Given the description of an element on the screen output the (x, y) to click on. 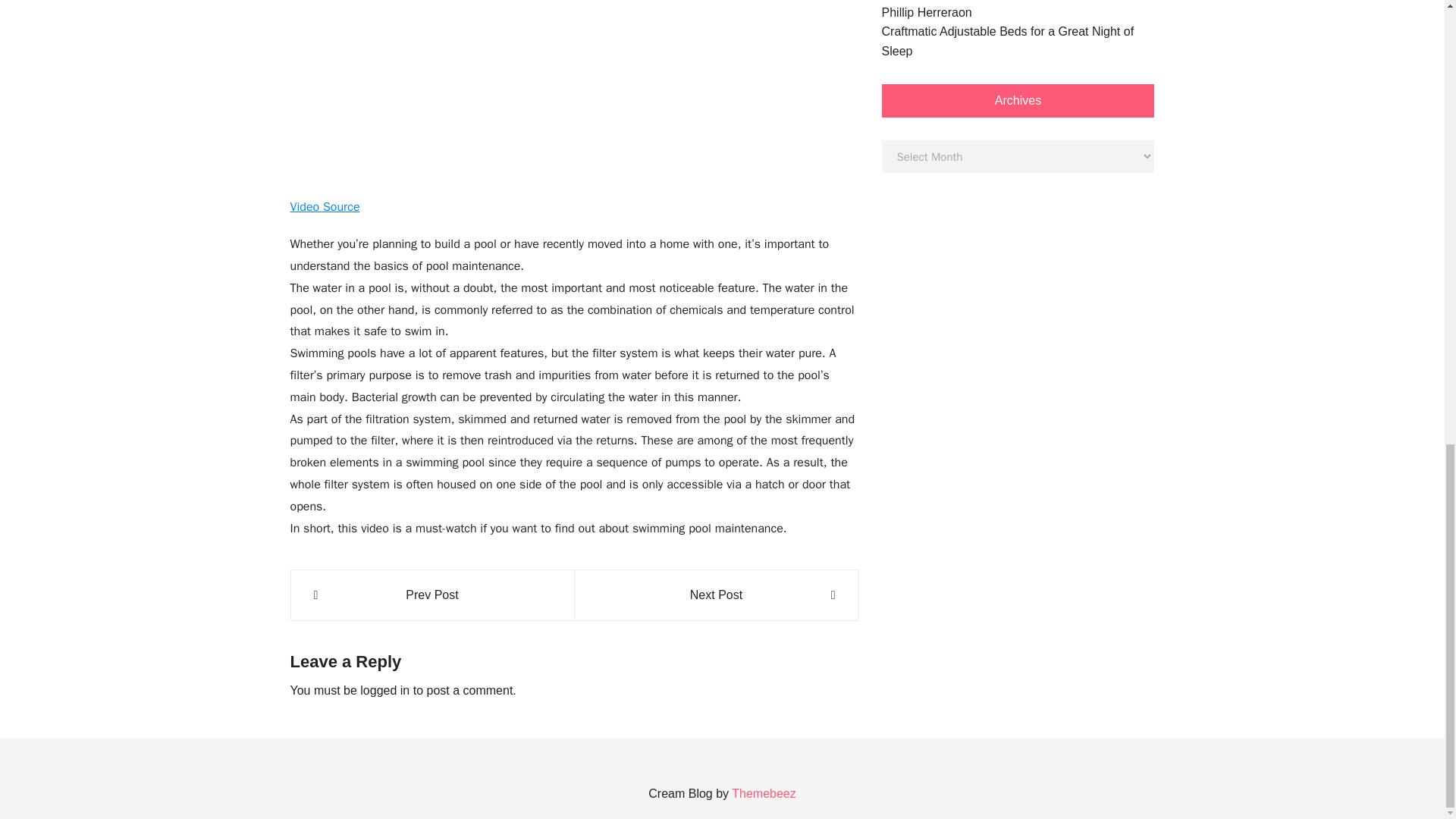
logged in (384, 689)
Craftmatic Adjustable Beds for a Great Night of Sleep (1017, 41)
Next Post (715, 595)
Themebeez (764, 793)
Video Source (324, 206)
Phillip Herrera (919, 11)
Prev Post (432, 595)
